Given the description of an element on the screen output the (x, y) to click on. 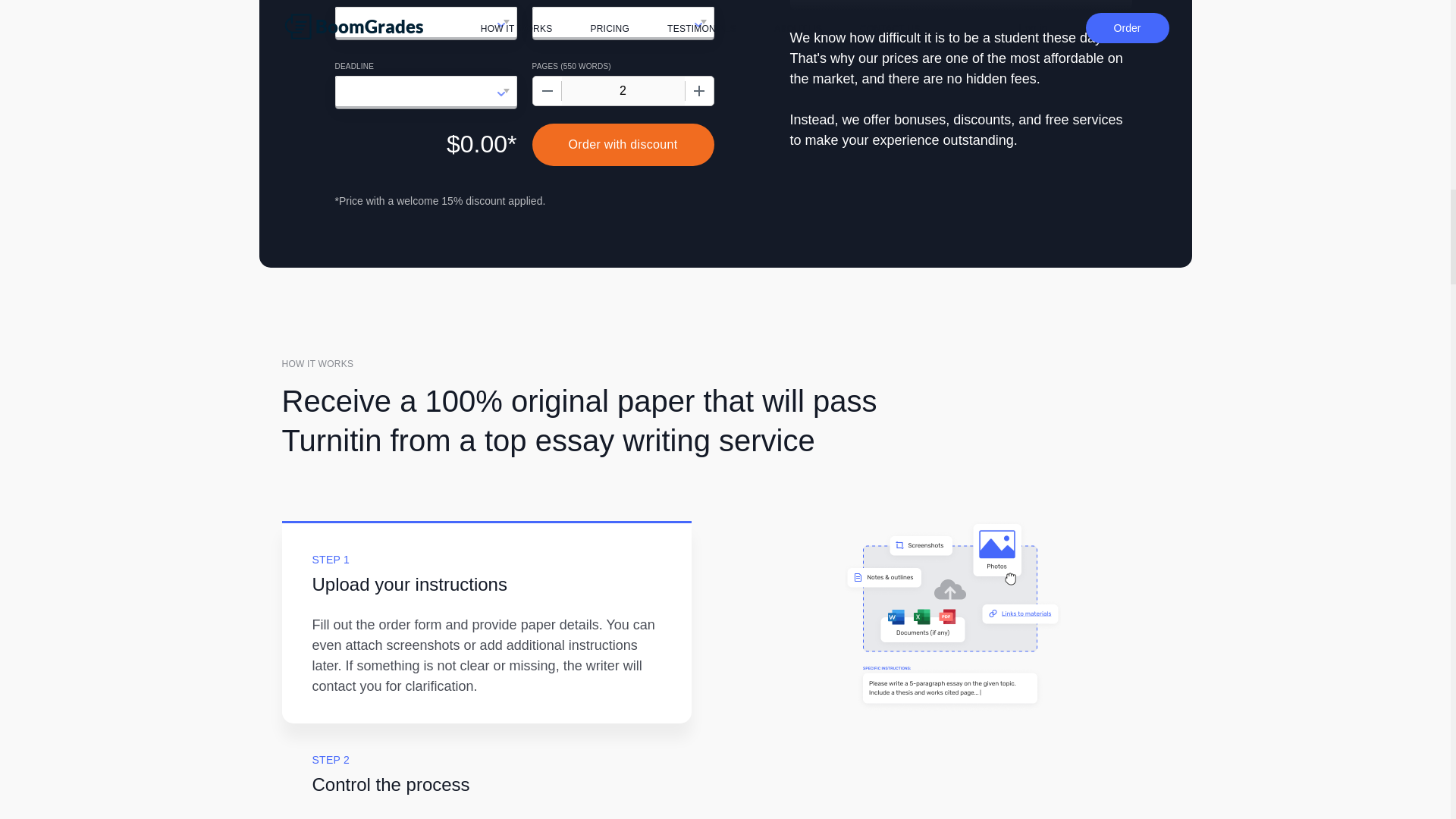
Order with discount (623, 144)
2 (622, 90)
Increase (698, 90)
Decrease (546, 90)
